Given the description of an element on the screen output the (x, y) to click on. 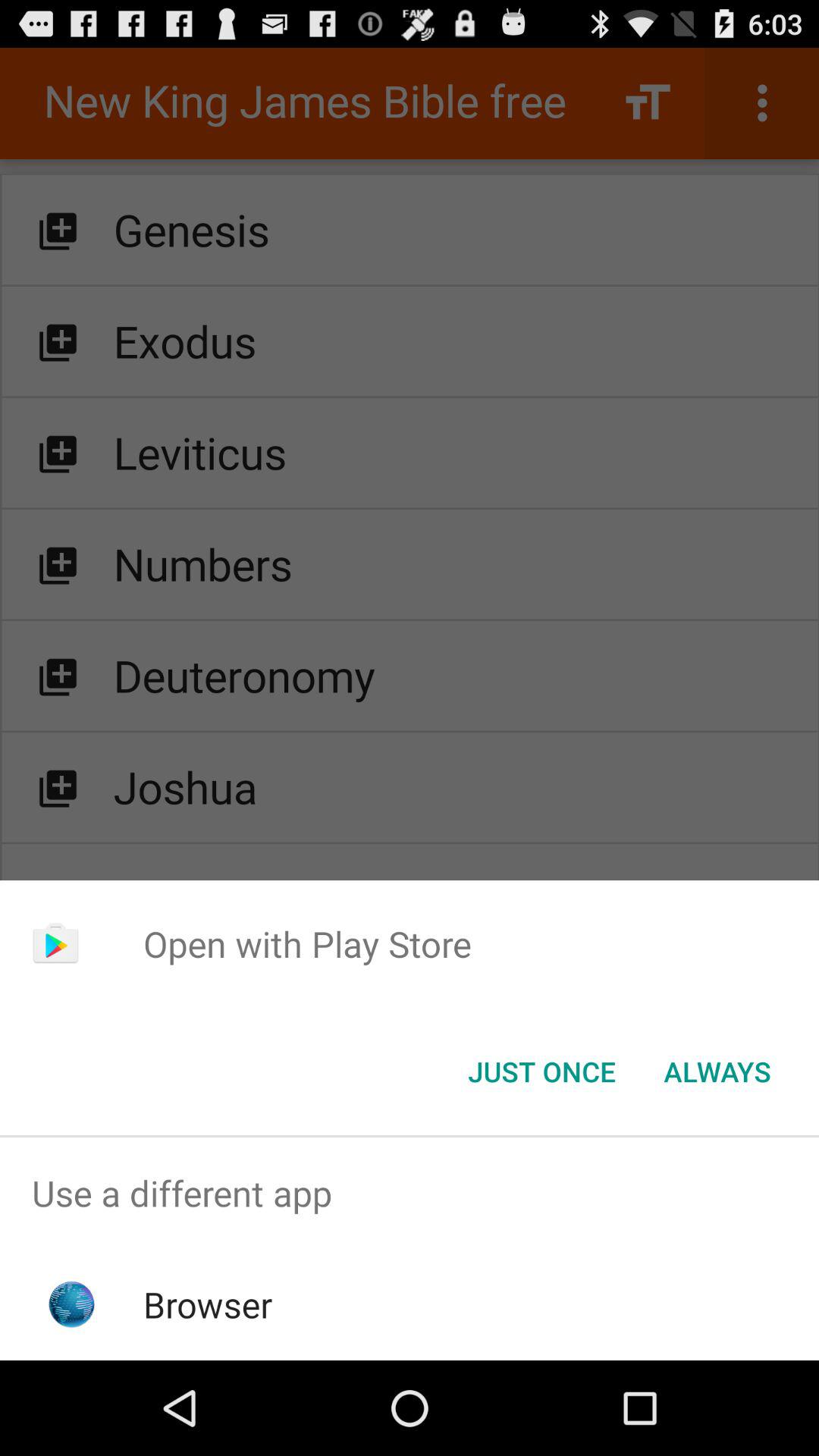
open the use a different app (409, 1192)
